Given the description of an element on the screen output the (x, y) to click on. 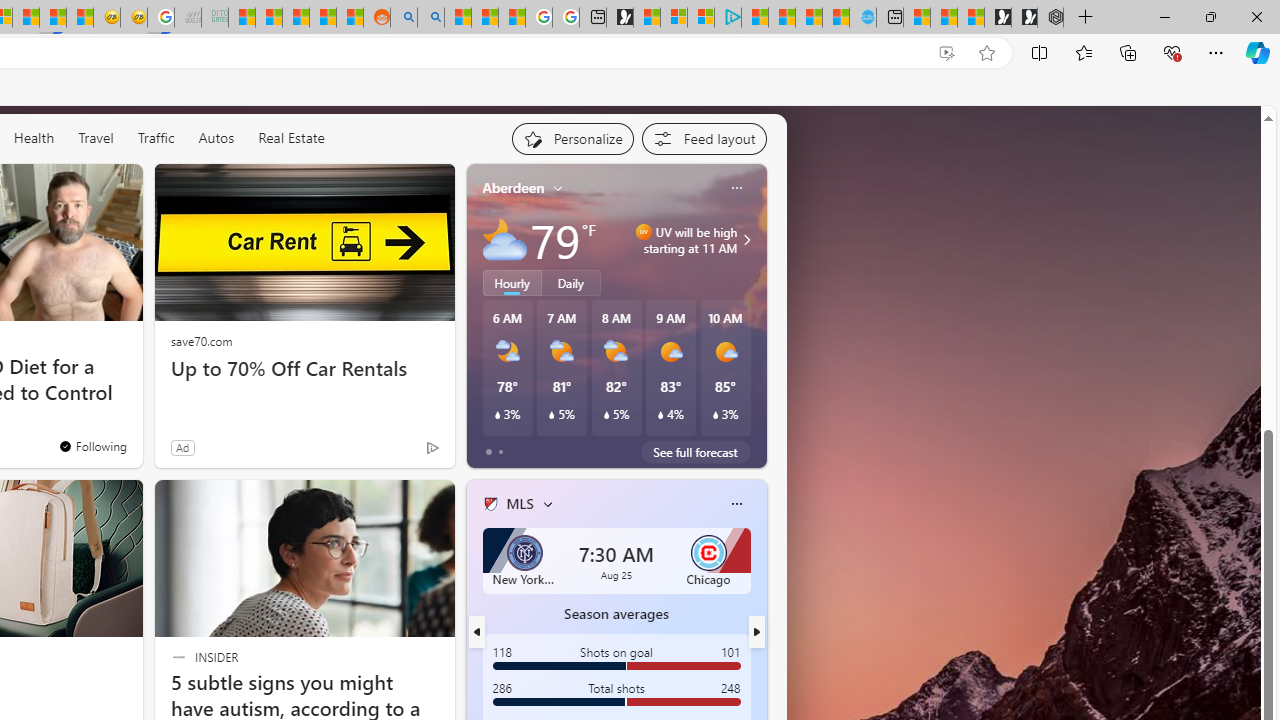
save70.com (201, 340)
Autos (215, 137)
MLS (519, 503)
Class: weather-current-precipitation-glyph (715, 415)
Up to 70% Off Car Rentals (304, 368)
